Given the description of an element on the screen output the (x, y) to click on. 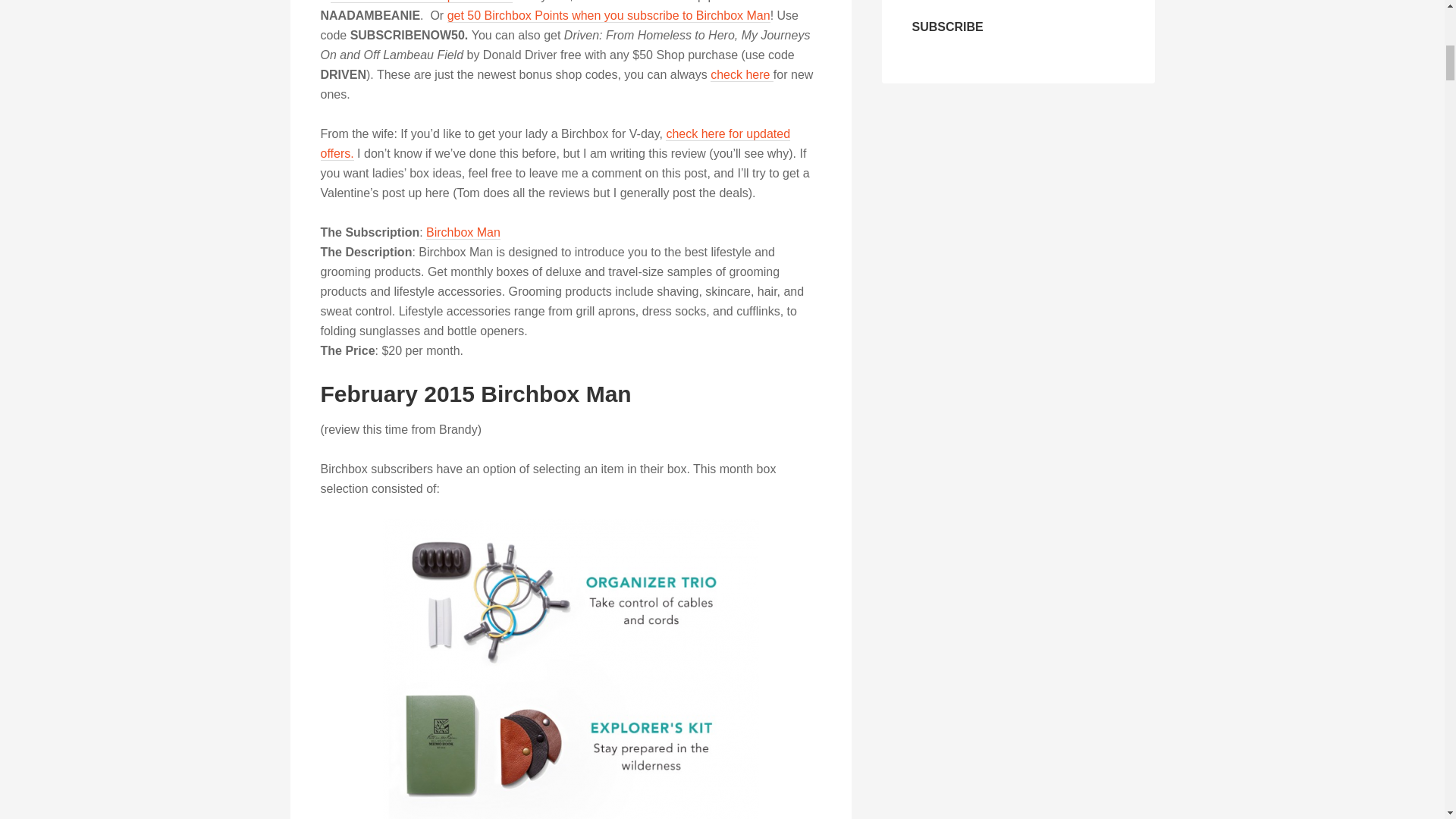
check here for updated offers. (555, 143)
Birchbox Man (463, 232)
Naadam Cashmere Speer Beanie (421, 1)
get 50 Birchbox Points when you subscribe to Birchbox Man (608, 15)
check here (741, 74)
